Given the description of an element on the screen output the (x, y) to click on. 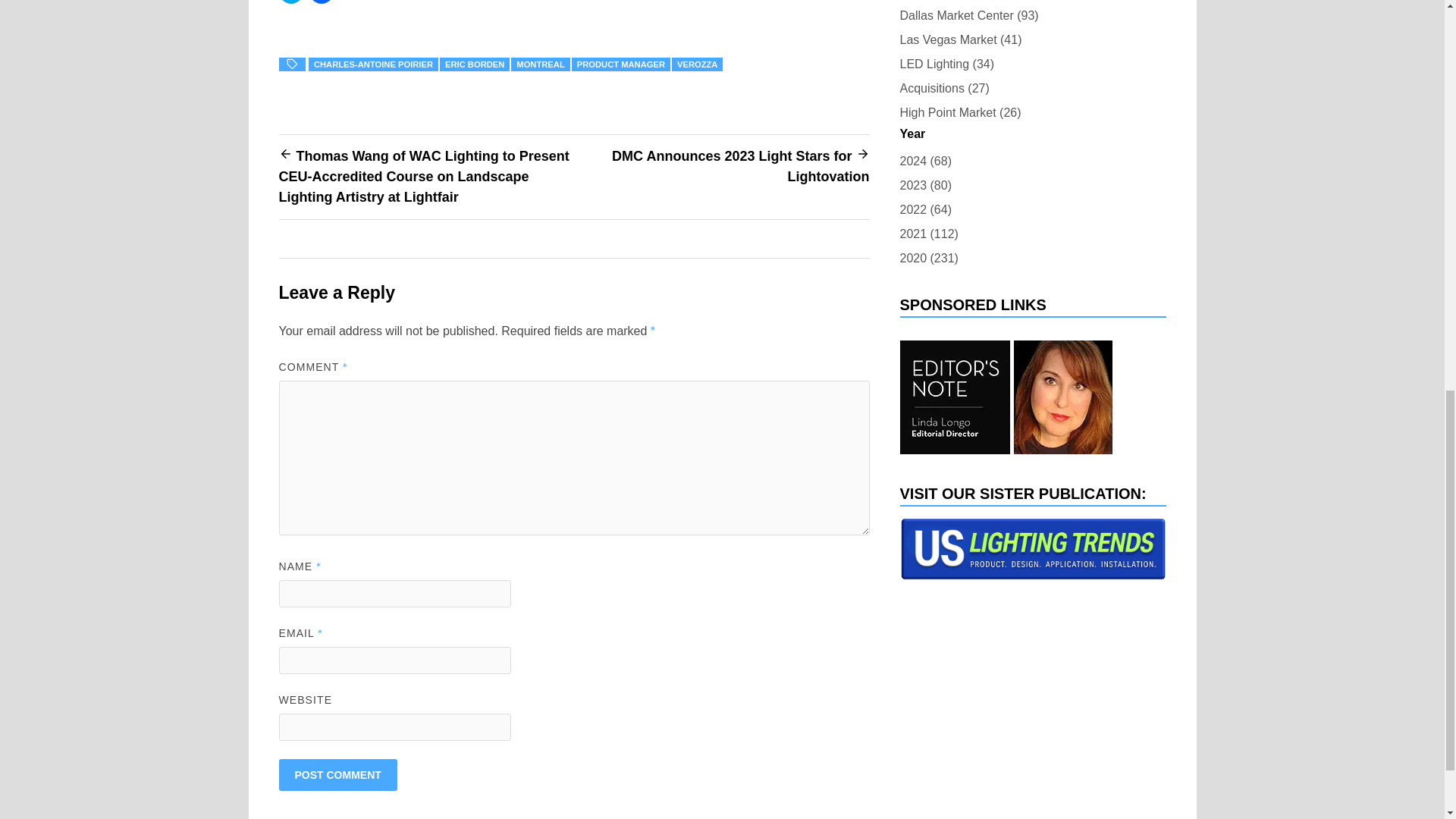
PRODUCT MANAGER (620, 64)
VEROZZA (696, 64)
Post Comment (338, 775)
CHARLES-ANTOINE POIRIER (373, 64)
Post Comment (338, 775)
ERIC BORDEN (474, 64)
MONTREAL (540, 64)
Click to share on Facebook (320, 2)
DMC Announces 2023 Light Stars for Lightovation (740, 166)
Click to share on Twitter (290, 2)
